Given the description of an element on the screen output the (x, y) to click on. 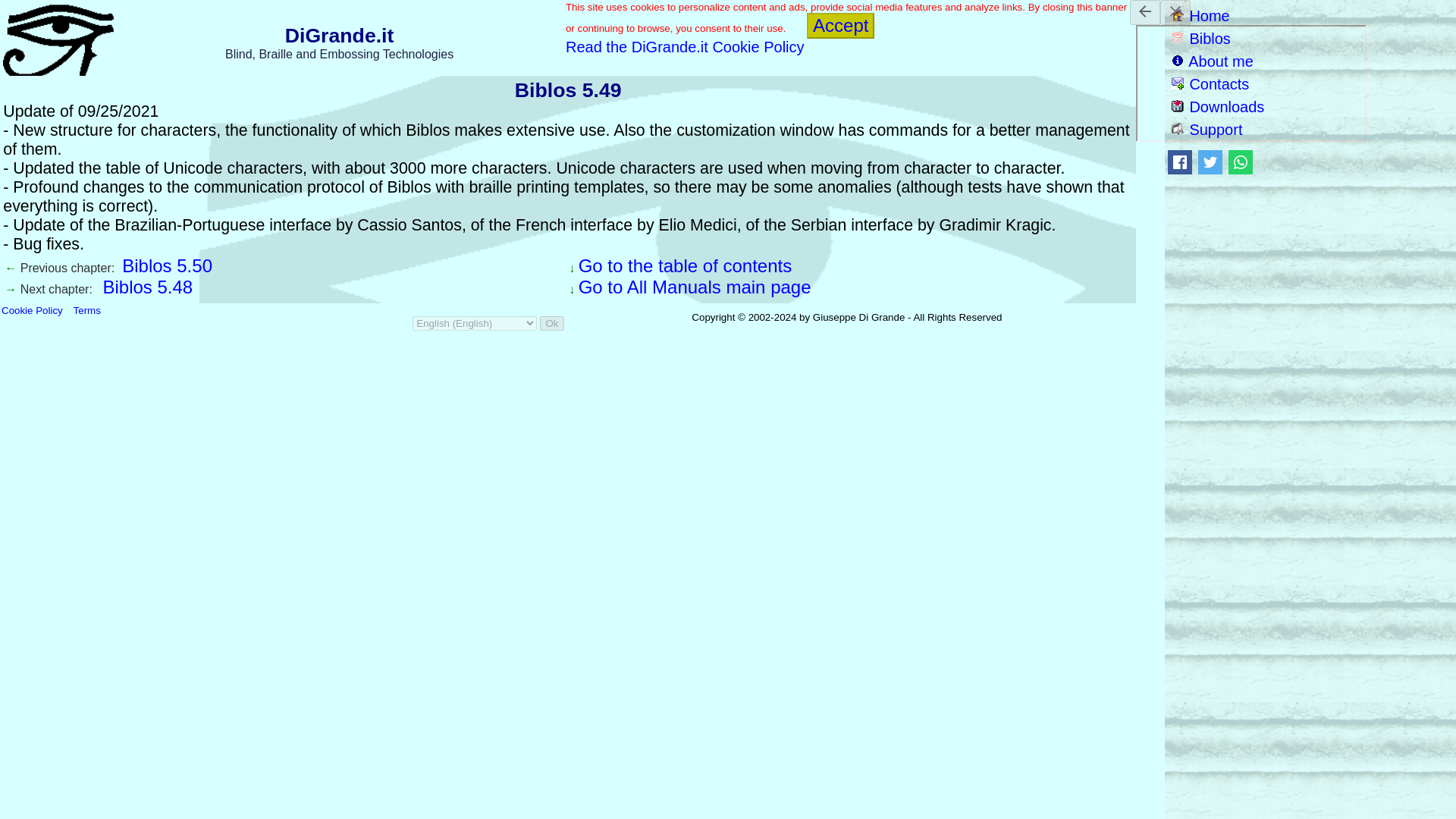
Go to All Manuals main page (694, 286)
Support (1207, 129)
Go to the table of contents (685, 265)
Whats New (685, 265)
Terms (87, 310)
Biblos main page with basic information. (1201, 38)
Contacts (1210, 84)
Downloads (1218, 106)
Ok (552, 323)
DiGrande.it home page (1201, 15)
Share to Facebook (1179, 164)
Accept (840, 25)
Cookie Policy (31, 310)
Biblos 5.50 (167, 265)
Share to Twitter (1210, 164)
